Given the description of an element on the screen output the (x, y) to click on. 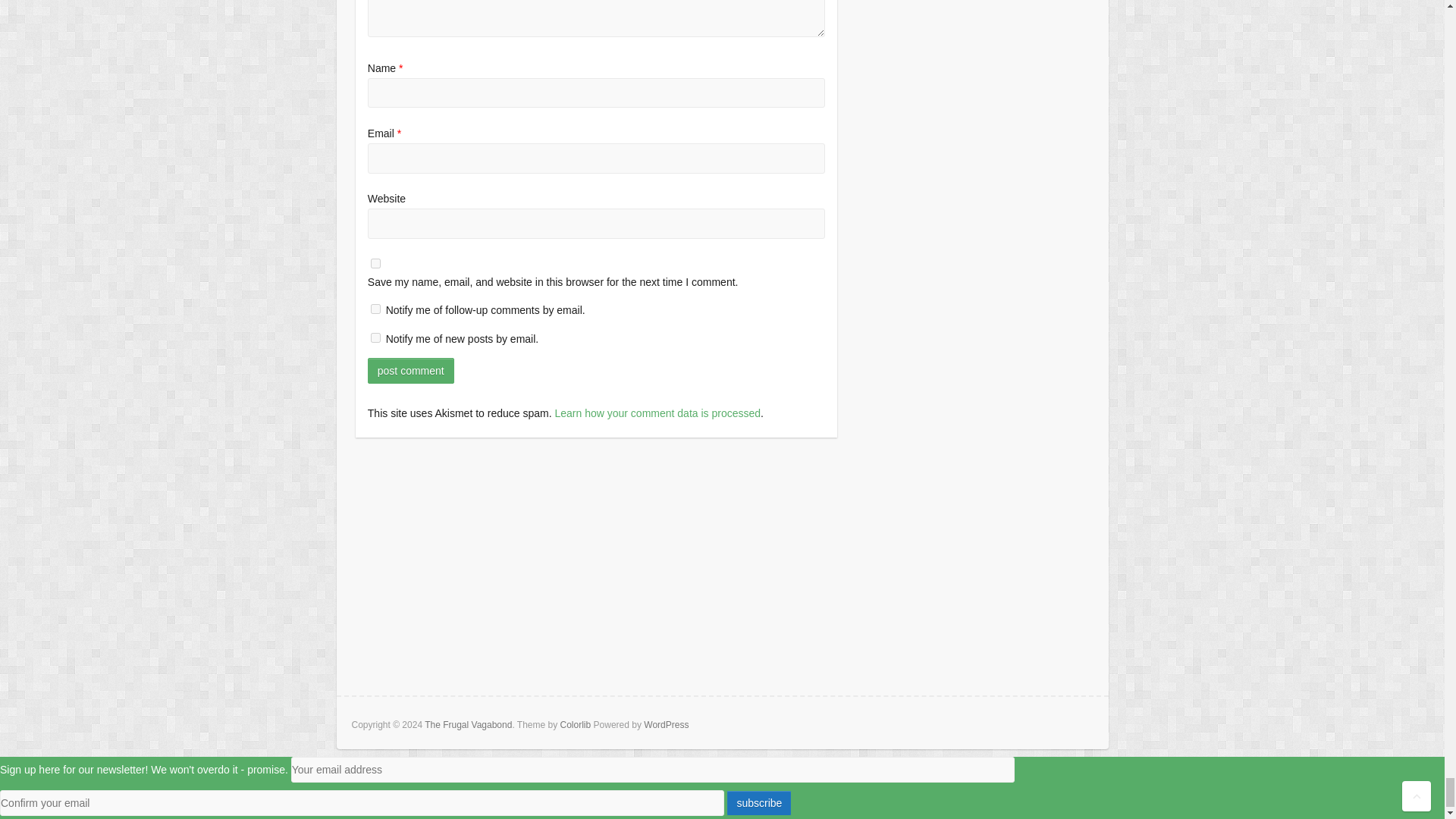
Subscribe (759, 802)
yes (375, 263)
subscribe (375, 308)
Post Comment (411, 370)
subscribe (375, 337)
